Given the description of an element on the screen output the (x, y) to click on. 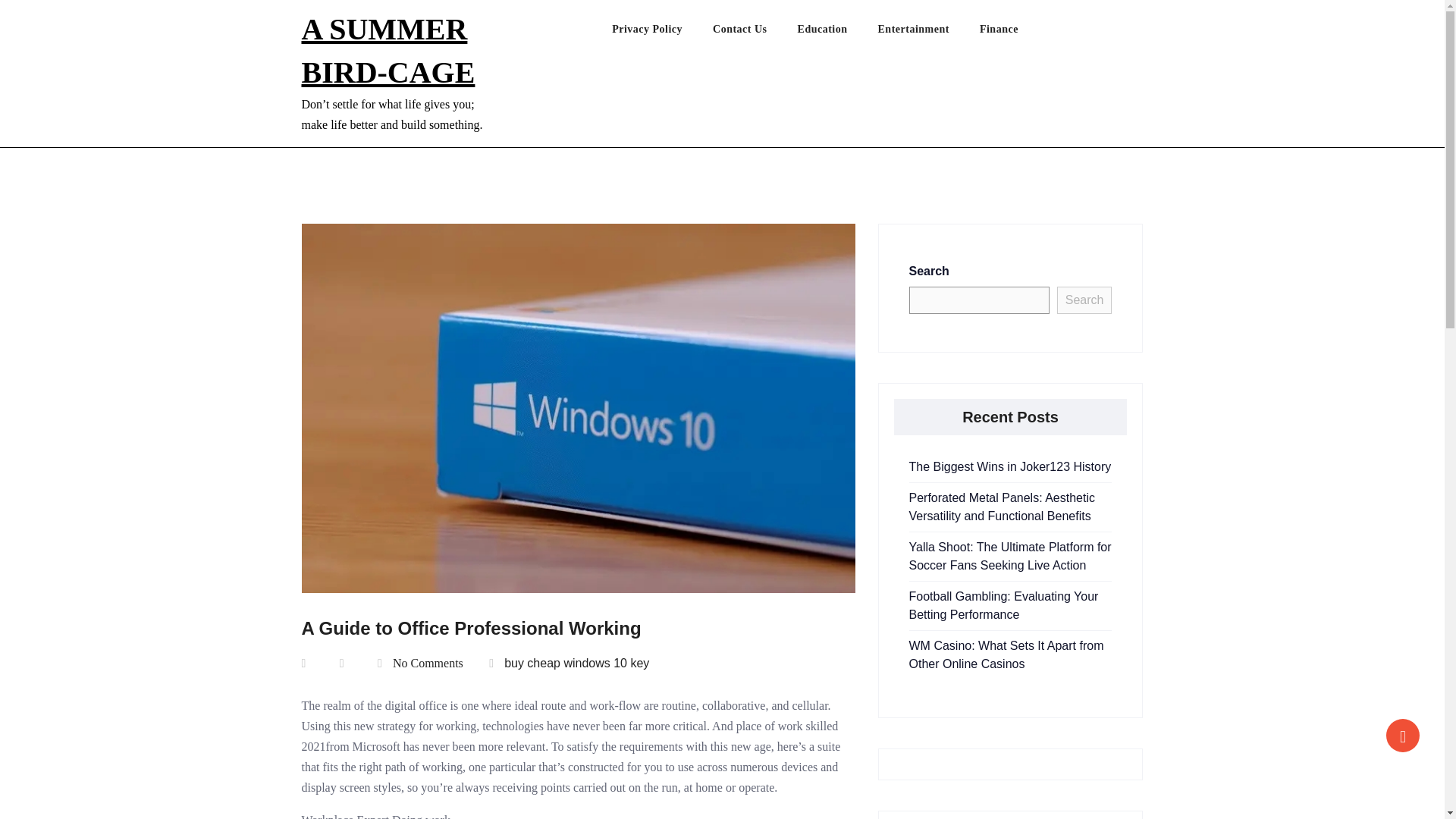
Contact Us (755, 32)
buy cheap windows 10 key (576, 662)
A SUMMER BIRD-CAGE (388, 50)
The Biggest Wins in Joker123 History (1009, 466)
Finance (1013, 32)
Search (1084, 299)
Education (837, 32)
WM Casino: What Sets It Apart from Other Online Casinos (1005, 654)
